Given the description of an element on the screen output the (x, y) to click on. 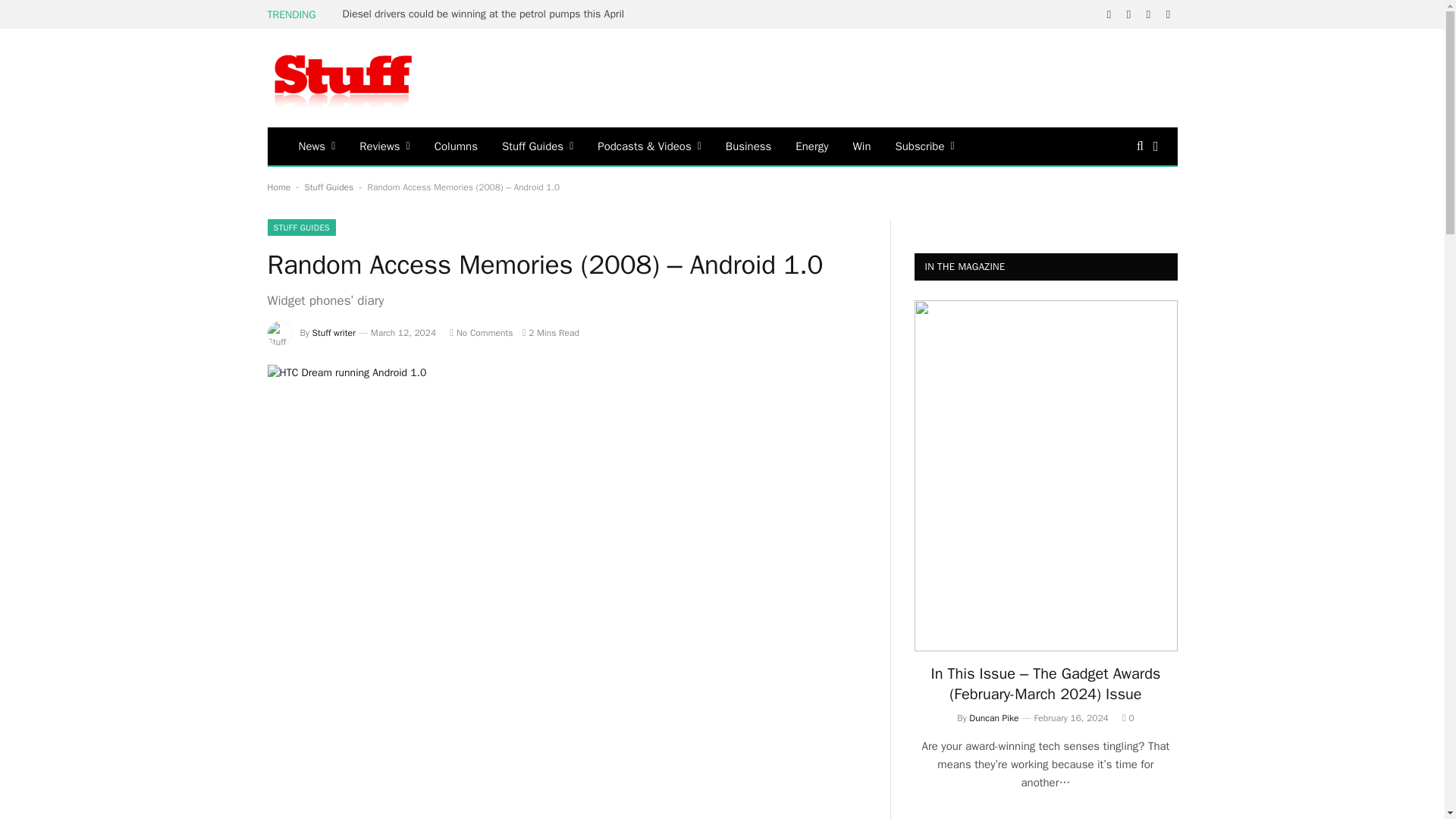
Stuff South Africa (342, 78)
Posts by Stuff writer (334, 332)
Reviews (384, 146)
News (316, 146)
